Given the description of an element on the screen output the (x, y) to click on. 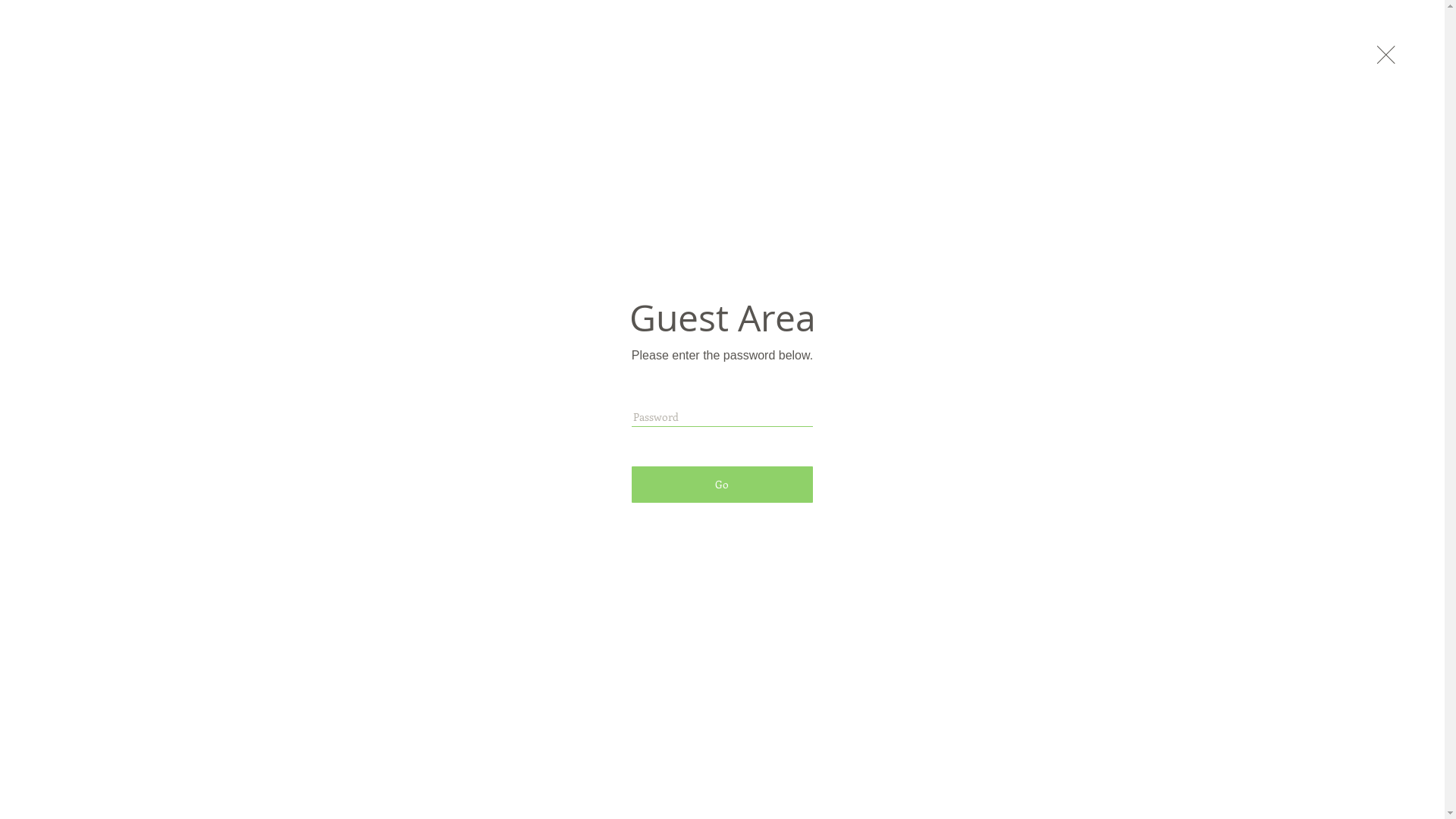
Go Element type: text (721, 484)
